Given the description of an element on the screen output the (x, y) to click on. 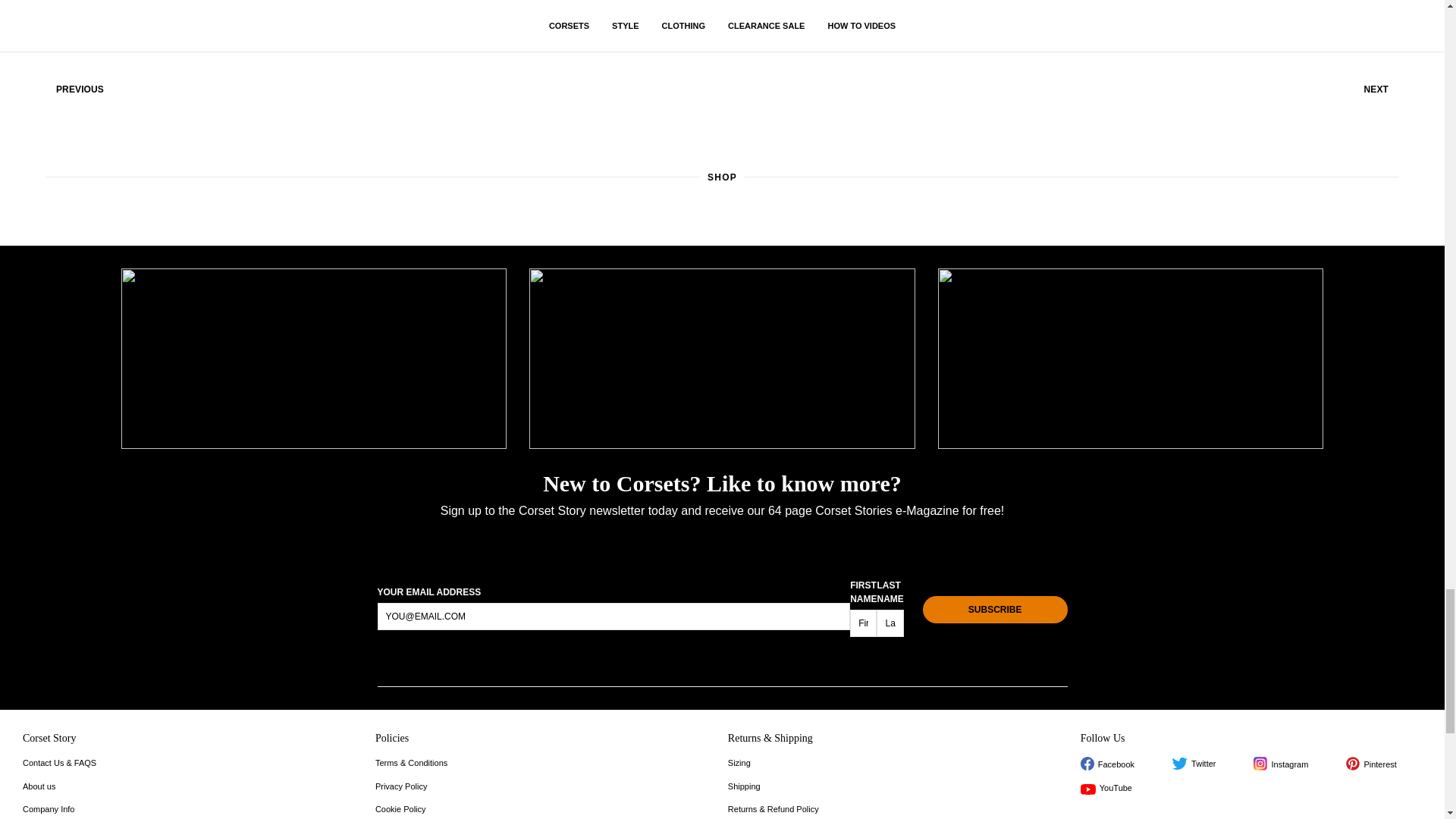
Corset Story US on Instagram (1280, 763)
Corset Story US on Facebook (1107, 763)
Corset Story US on YouTube (1106, 788)
Corset Story US on Twitter (1193, 763)
Corset Story US on Pinterest (1370, 763)
